Given the description of an element on the screen output the (x, y) to click on. 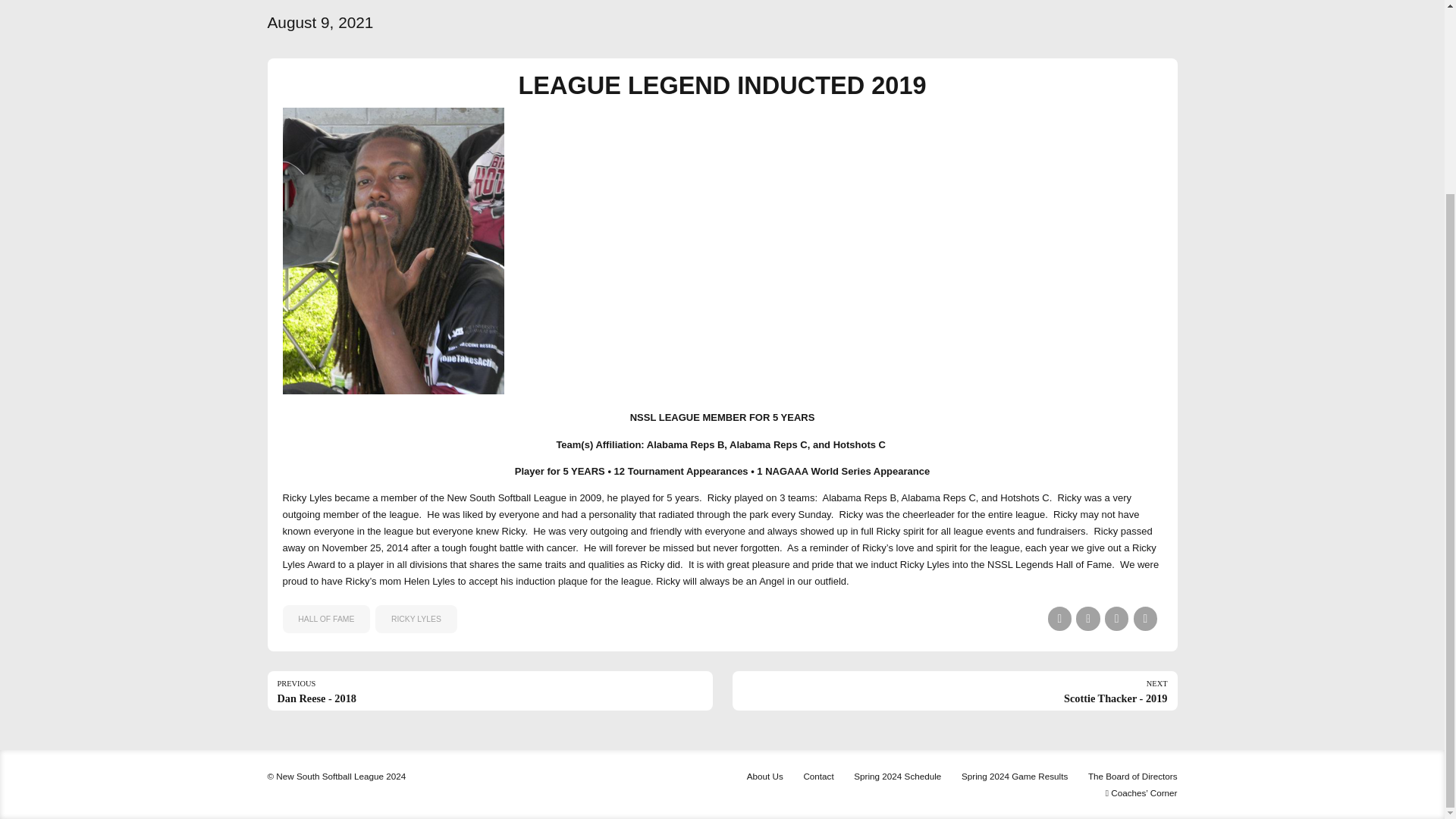
RICKY LYLES (488, 690)
Share on Facebook (416, 619)
Spring 2024 Game Results (1059, 617)
About Us (1013, 775)
Contact (764, 775)
Share on Linkedin (817, 775)
Share on VK (1116, 617)
The Board of Directors (1145, 617)
Spring 2024 Schedule (1132, 775)
